Given the description of an element on the screen output the (x, y) to click on. 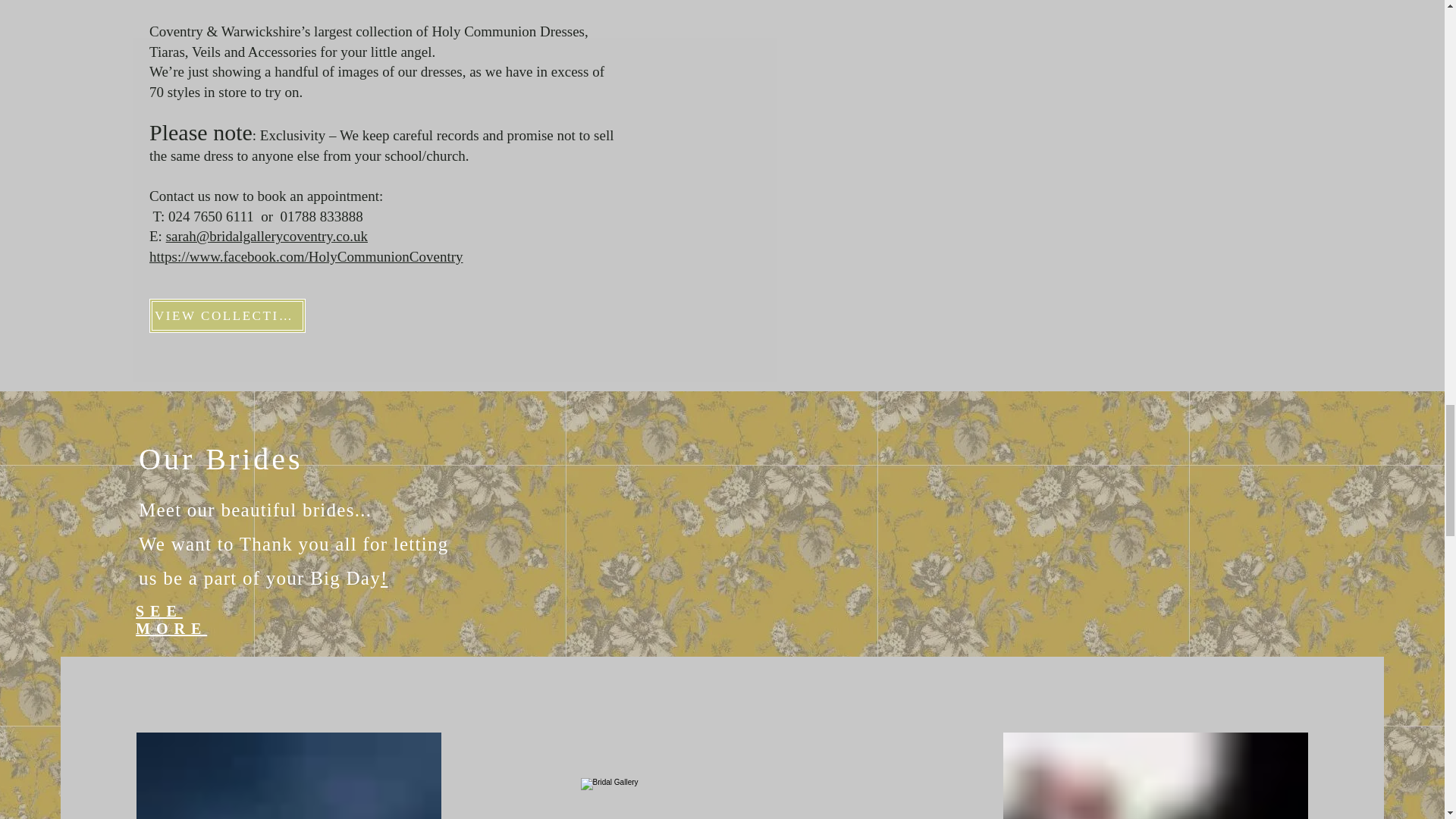
VIEW COLLECTION (227, 315)
SEE MORE (170, 619)
